Given the description of an element on the screen output the (x, y) to click on. 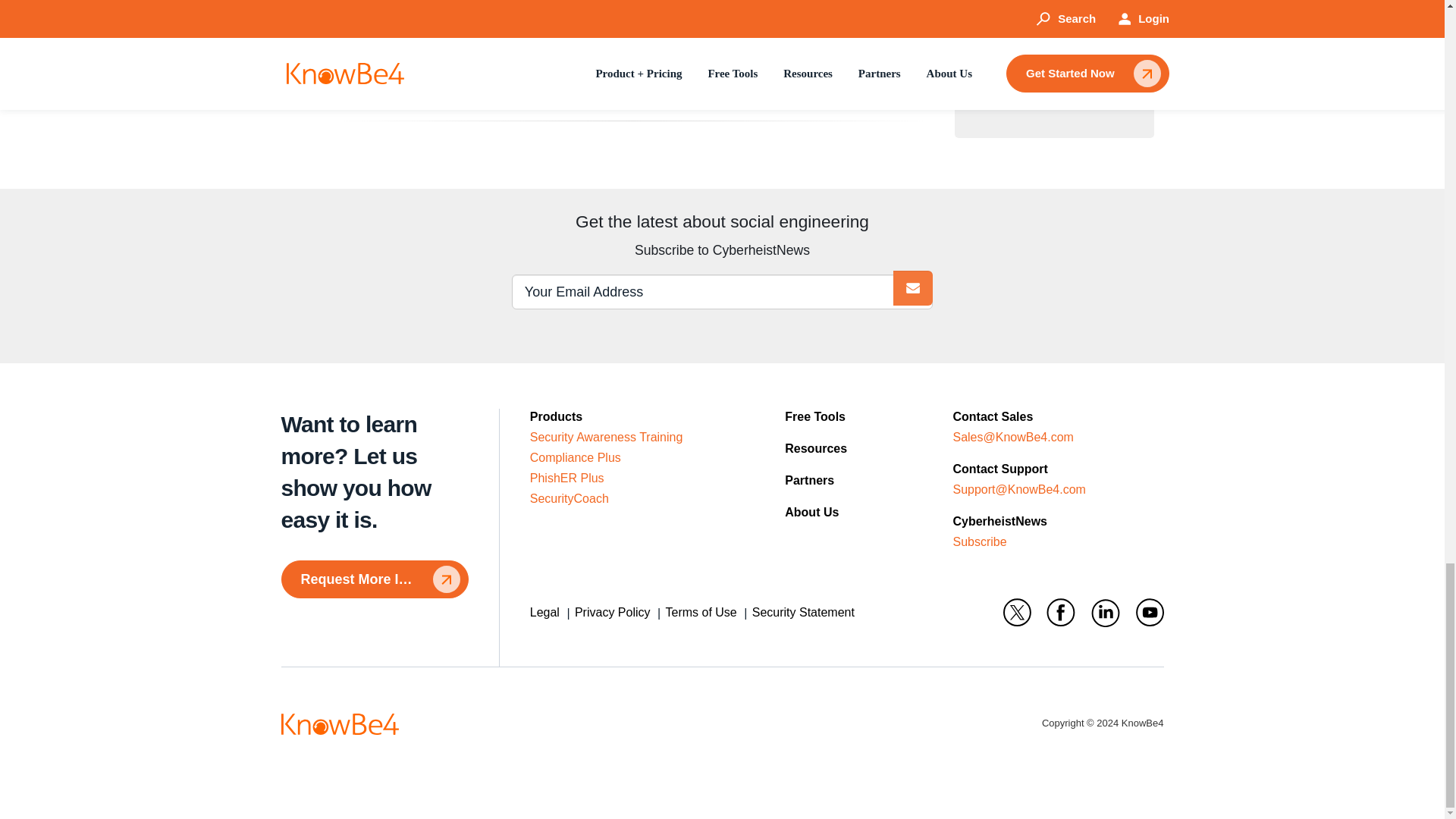
Request More Info (374, 579)
header-logo (339, 723)
. (913, 288)
